Given the description of an element on the screen output the (x, y) to click on. 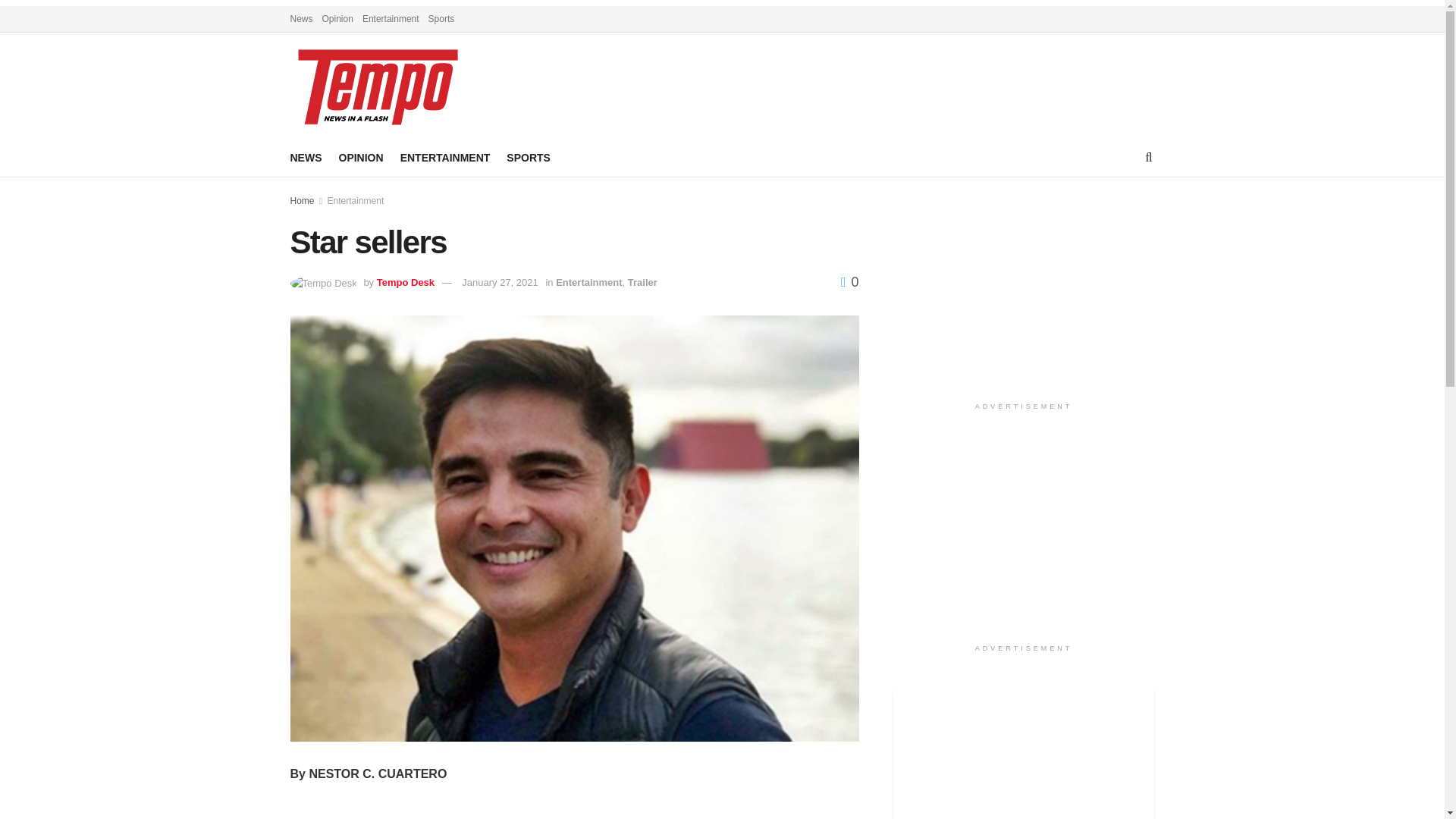
Sports (441, 18)
Home (301, 200)
NEWS (305, 157)
Opinion (337, 18)
Entertainment (390, 18)
SPORTS (528, 157)
0 (850, 281)
Advertisement (1023, 294)
Entertainment (355, 200)
Trailer (642, 282)
